Given the description of an element on the screen output the (x, y) to click on. 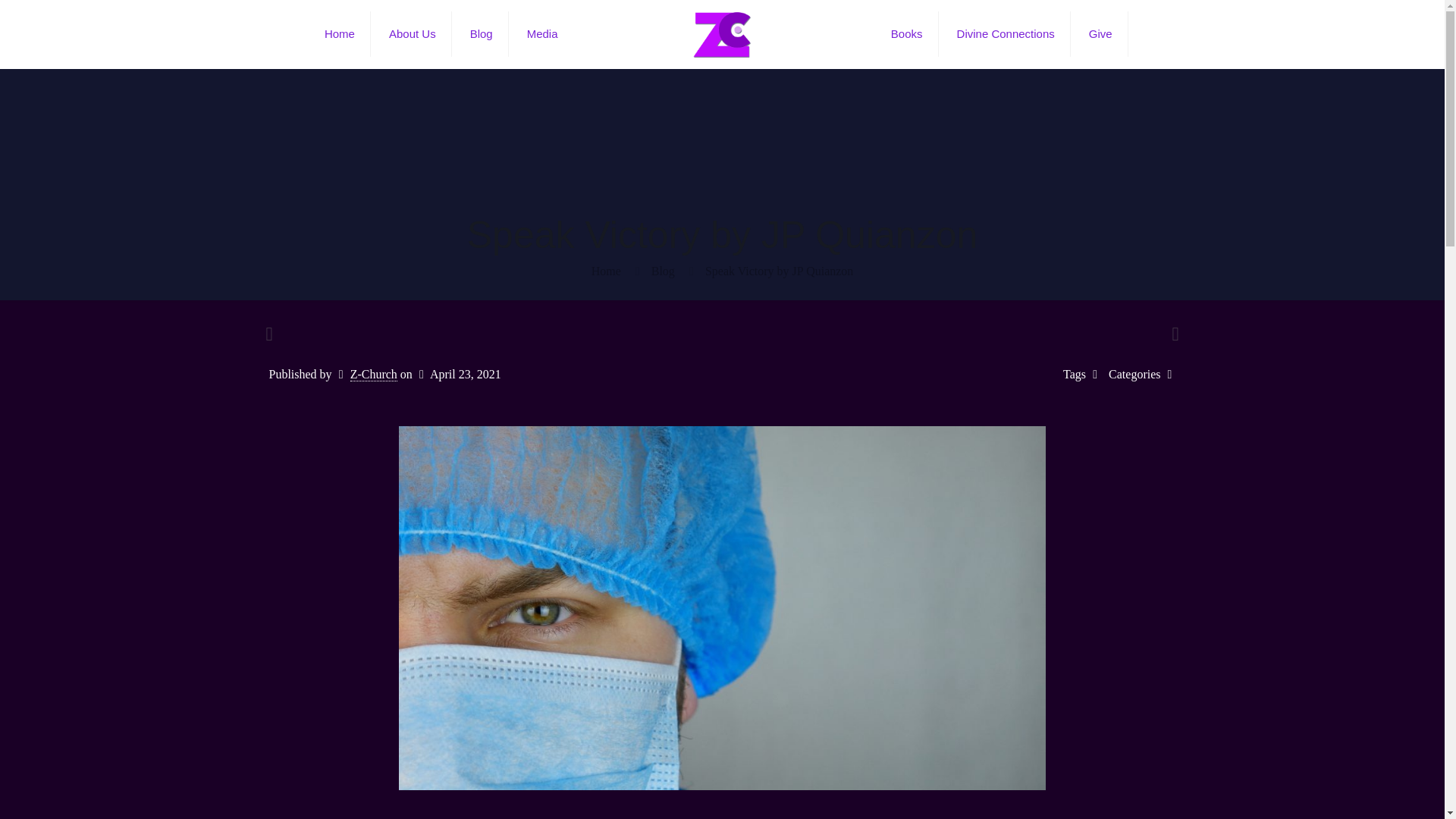
Blog (662, 270)
Media (542, 33)
Speak Victory by JP Quianzon (778, 270)
About Us (412, 33)
Home (339, 33)
Divine Connections (1006, 33)
Z-Church (373, 374)
Books (907, 33)
Home (606, 270)
ZCHURCH (721, 33)
